Given the description of an element on the screen output the (x, y) to click on. 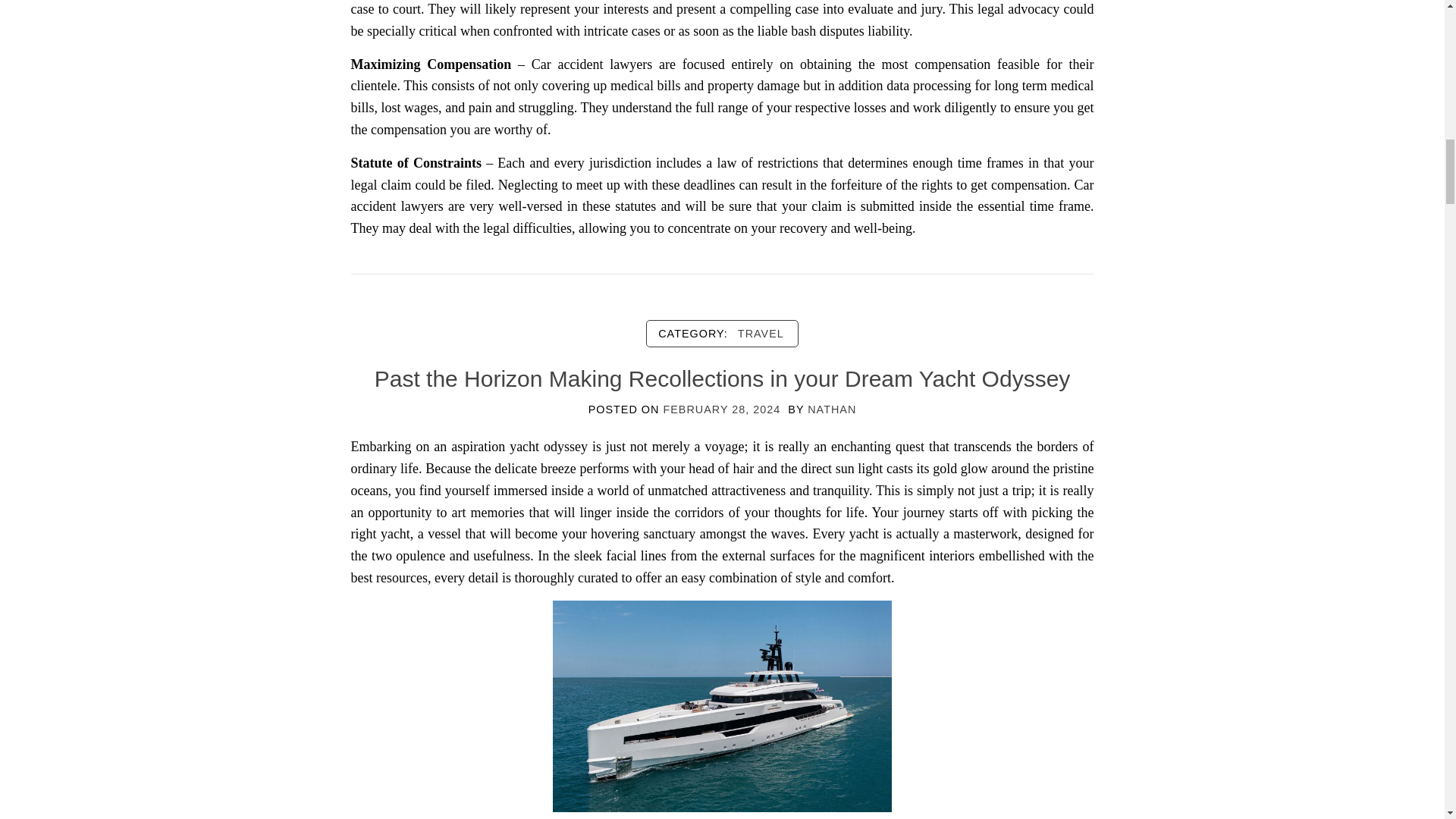
TRAVEL (761, 333)
NATHAN (832, 409)
FEBRUARY 28, 2024 (721, 409)
